Given the description of an element on the screen output the (x, y) to click on. 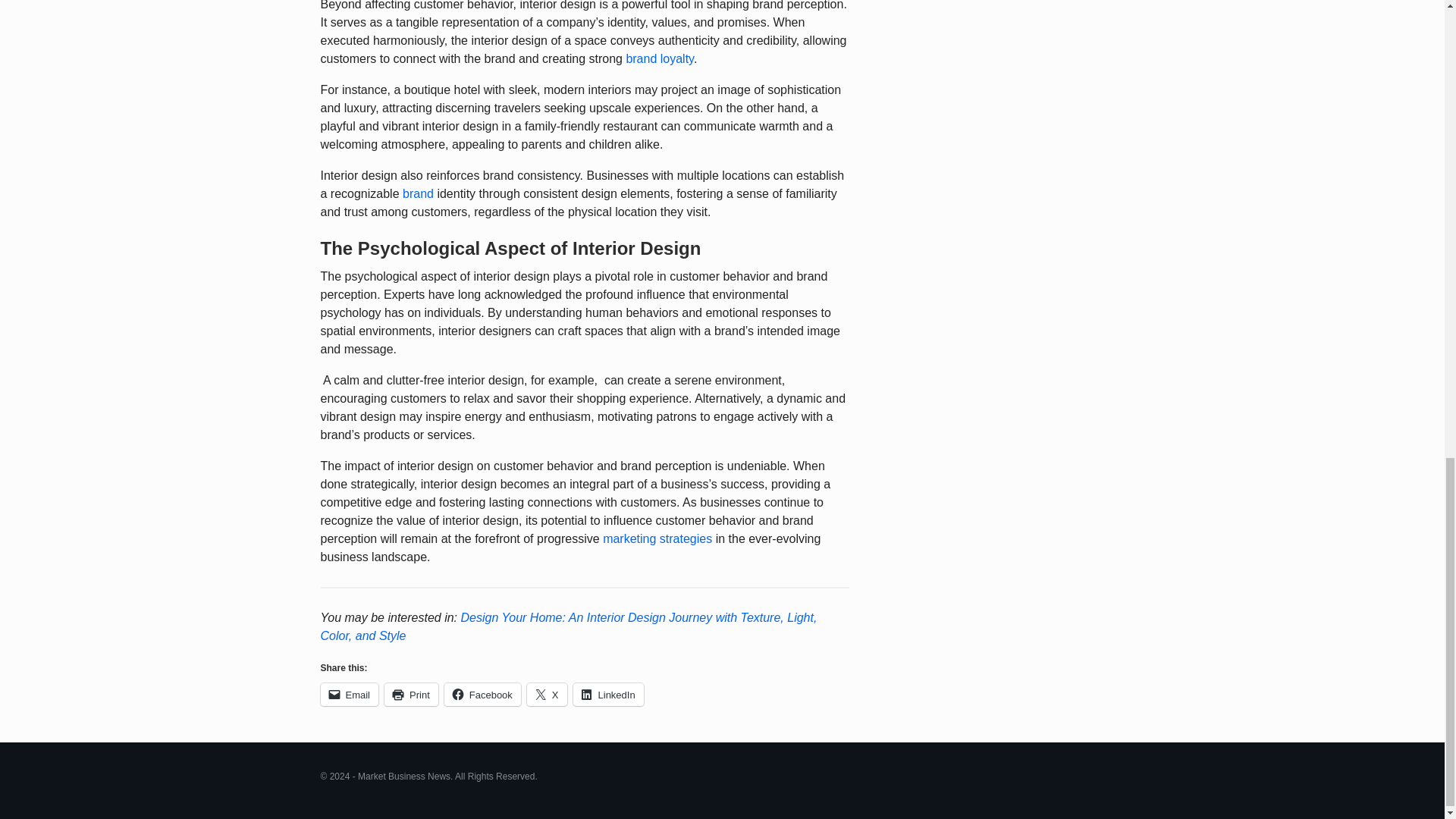
Click to share on LinkedIn (608, 694)
Print (411, 694)
Click to print (411, 694)
Click to email a link to a friend (349, 694)
brand (418, 193)
Email (349, 694)
marketing strategies (656, 538)
Click to share on X (547, 694)
brand loyalty (660, 58)
